Given the description of an element on the screen output the (x, y) to click on. 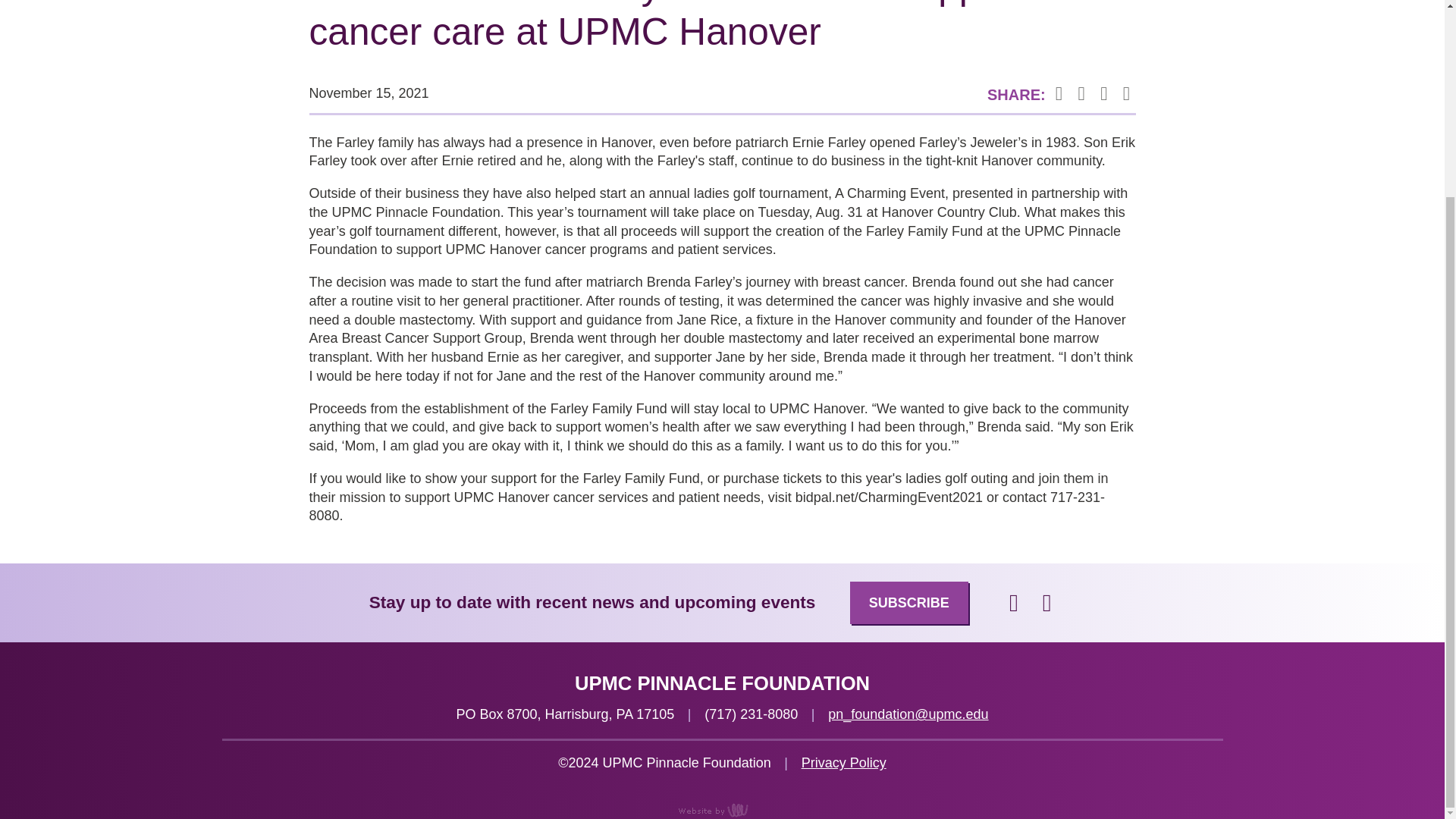
Tweet (1080, 94)
Email (1125, 94)
Share on Facebook (1058, 94)
Share on LinkedIn (1103, 94)
